Given the description of an element on the screen output the (x, y) to click on. 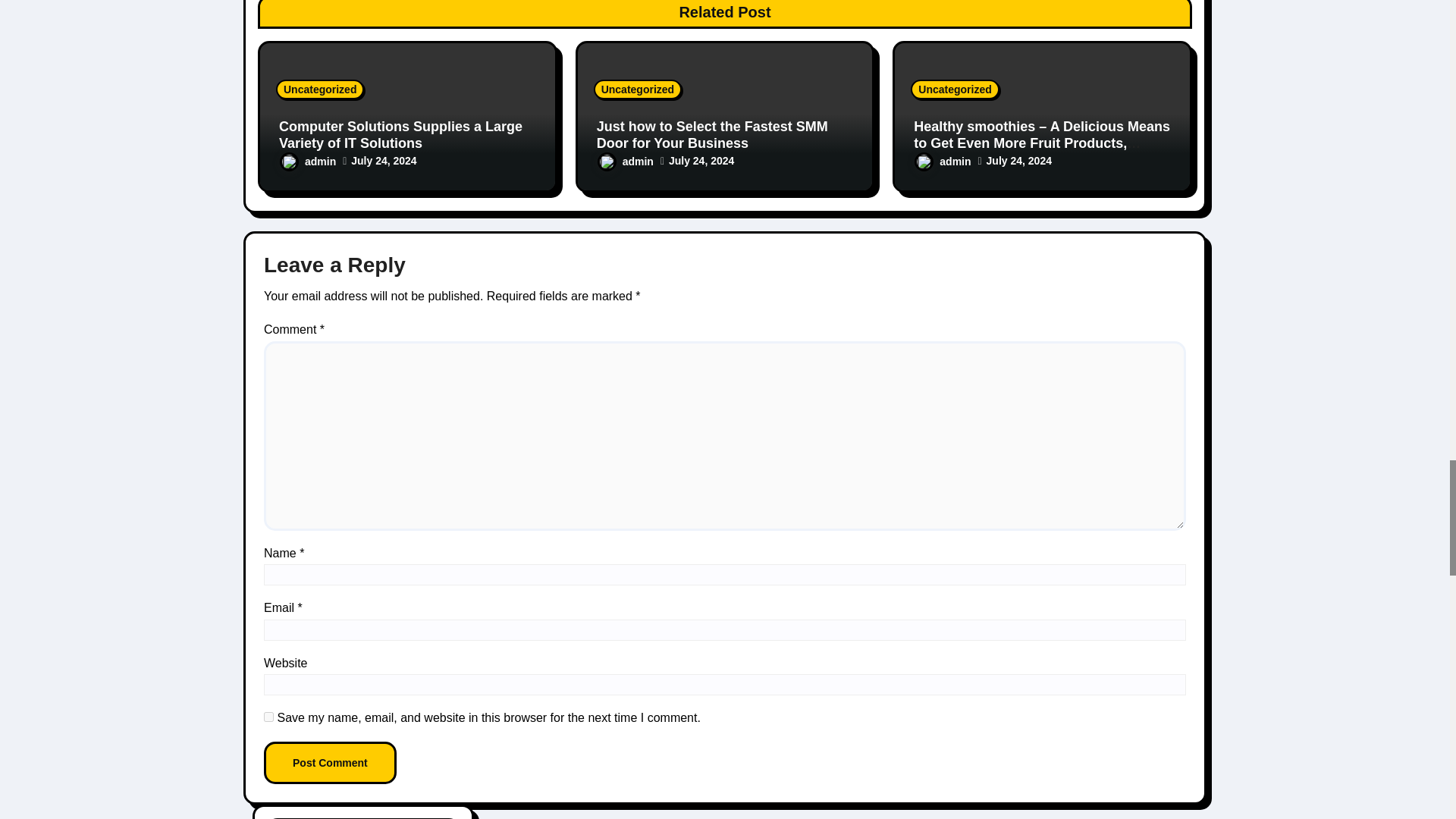
Post Comment (329, 762)
yes (268, 716)
